Given the description of an element on the screen output the (x, y) to click on. 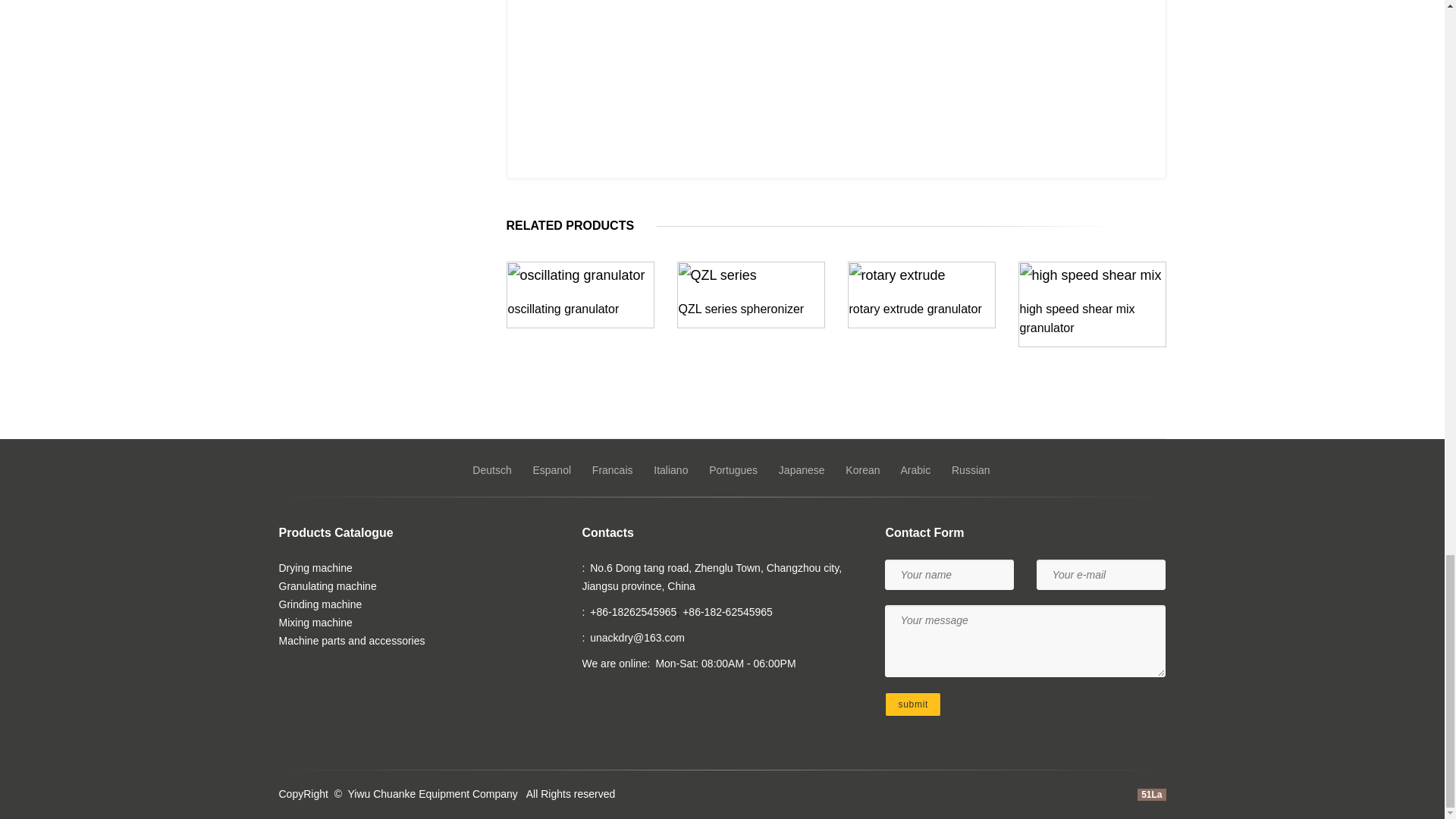
high speed shear mix granulator (1076, 318)
 submit  (546, 426)
rotary extrude granulator (914, 308)
oscillating granulator (564, 308)
QZL series spheronizer (740, 308)
 submit  (912, 704)
